Given the description of an element on the screen output the (x, y) to click on. 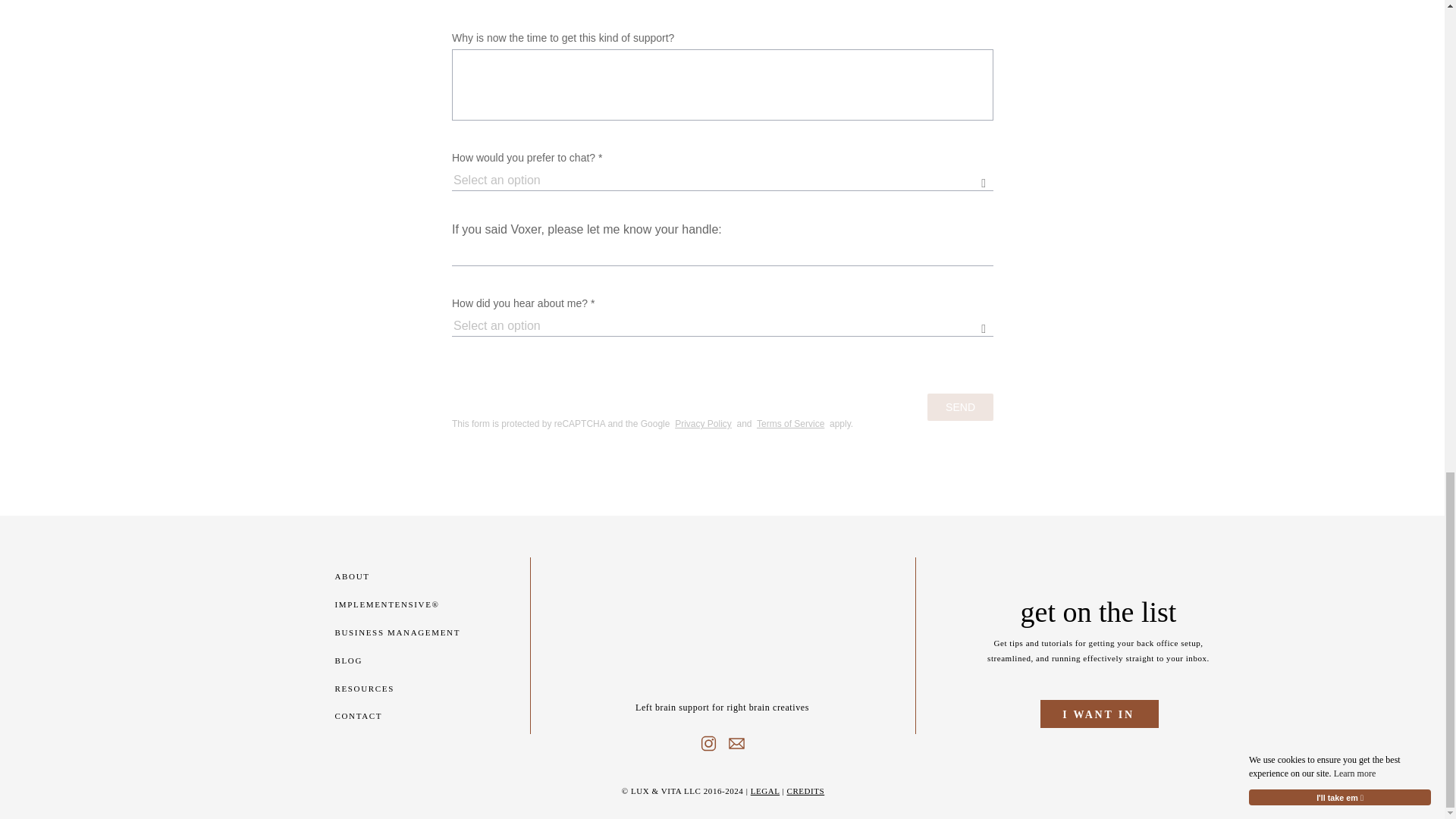
BUSINESS MANAGEMENT (421, 631)
RESOURCES (369, 687)
CREDITS (806, 790)
LEGAL (764, 790)
ABOUT (369, 575)
CONTACT (369, 715)
BLOG (369, 659)
I WANT IN (1099, 712)
